Given the description of an element on the screen output the (x, y) to click on. 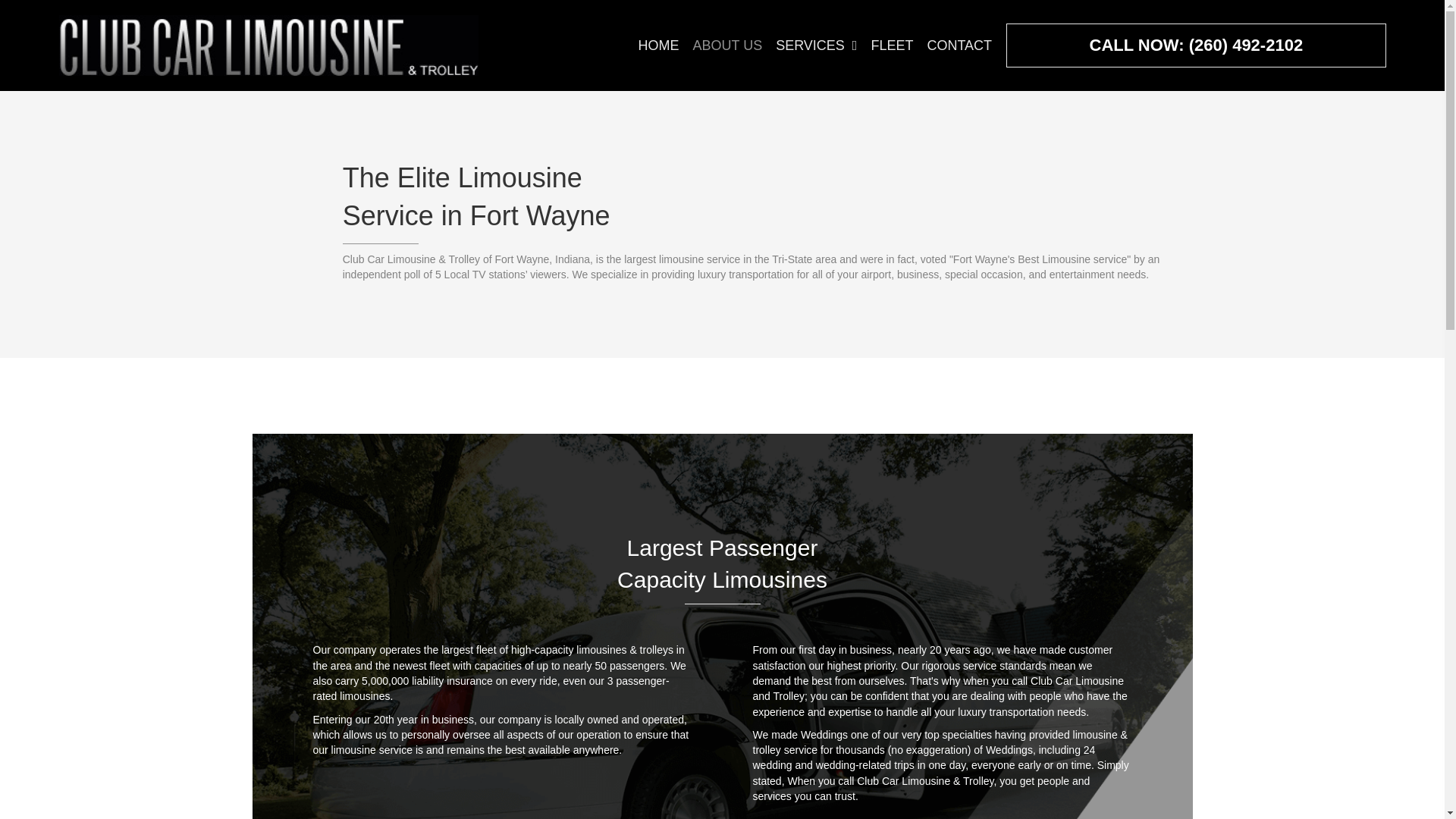
FLEET (891, 45)
ABOUT US (726, 45)
CONTACT (958, 45)
SERVICES (816, 45)
HOME (657, 45)
